Given the description of an element on the screen output the (x, y) to click on. 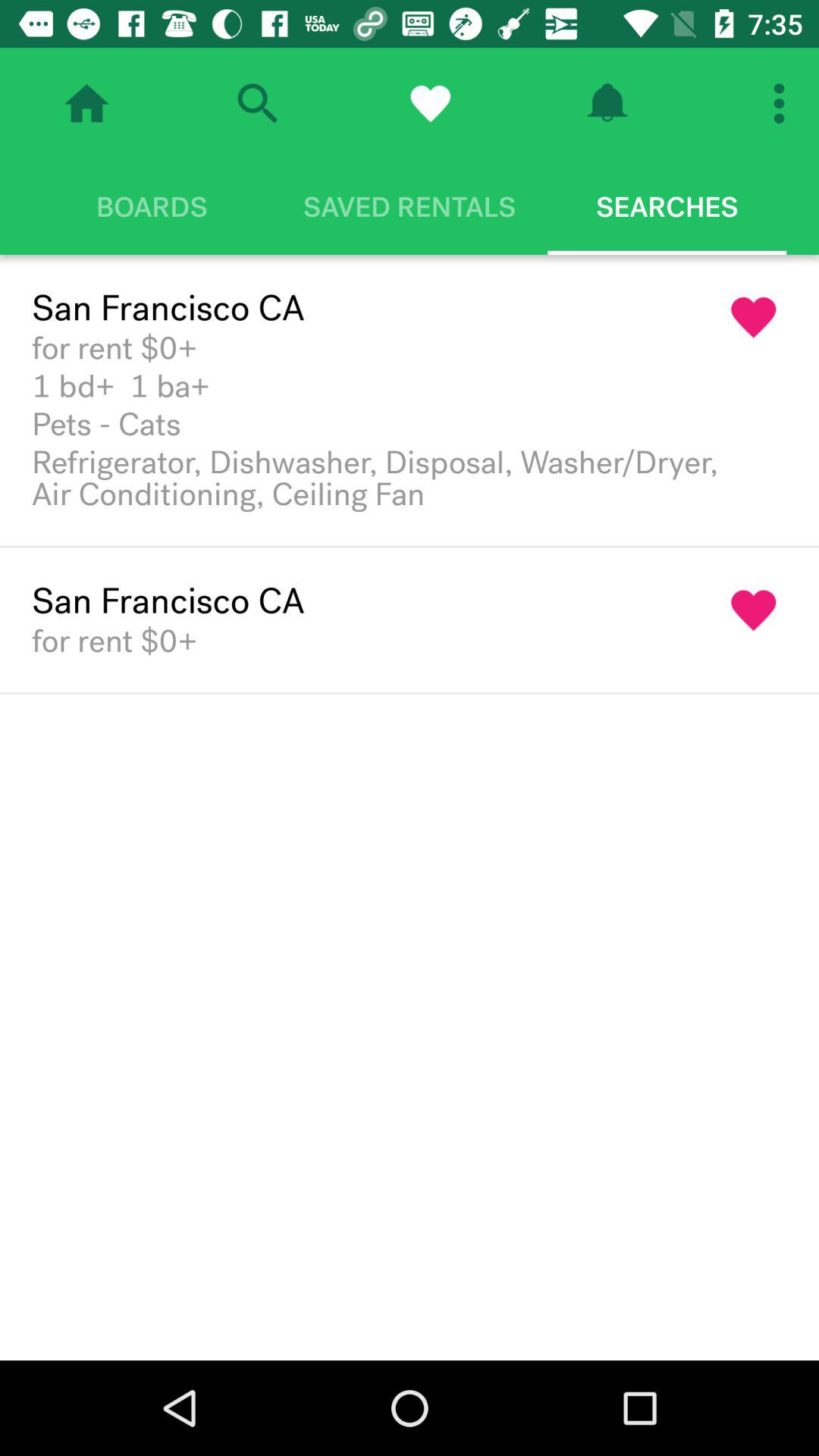
love the listing (753, 610)
